Given the description of an element on the screen output the (x, y) to click on. 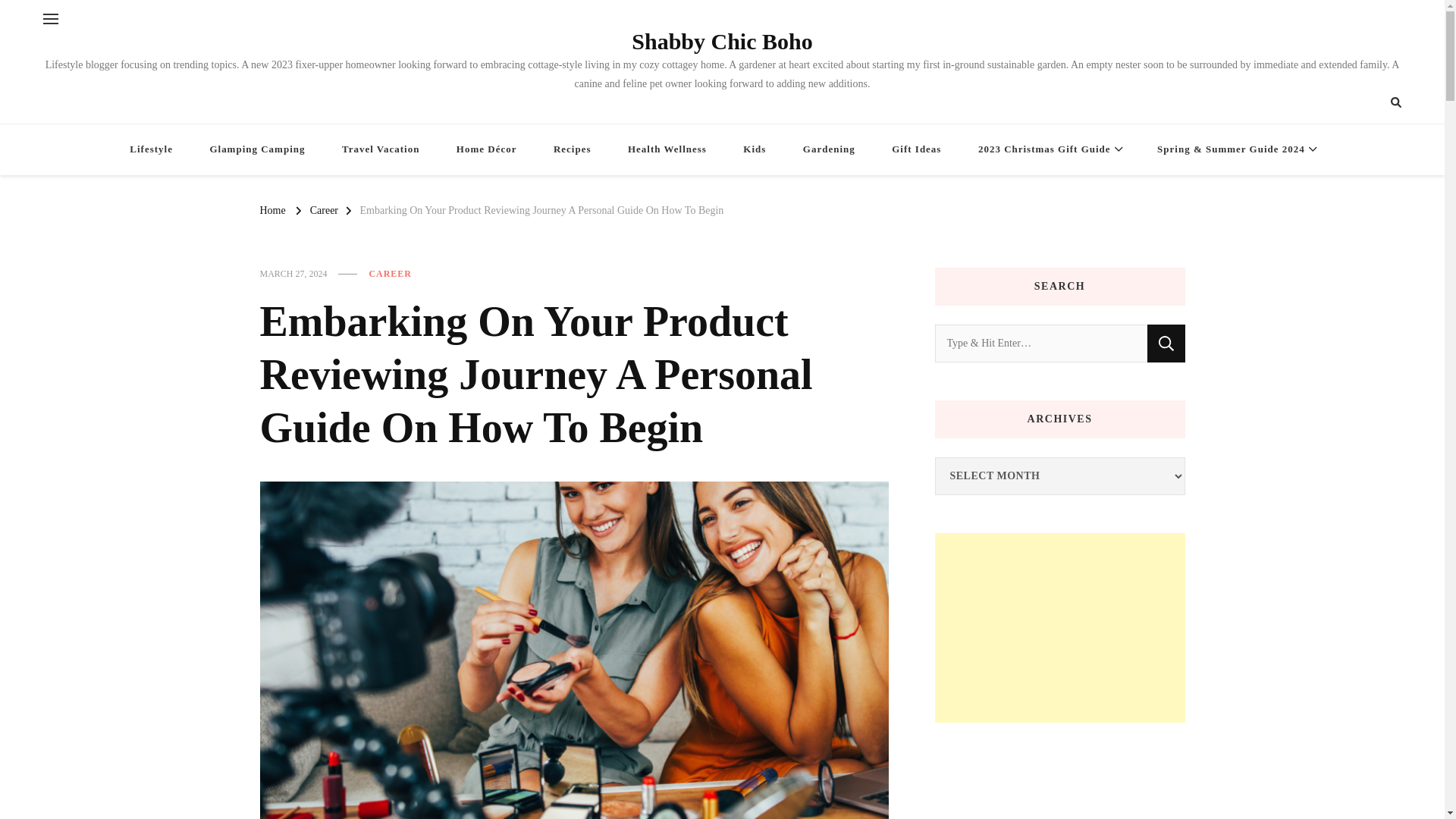
2023 Christmas Gift Guide (1048, 149)
Gift Ideas (916, 149)
Glamping Camping (256, 149)
Search (1166, 343)
Kids (754, 149)
Lifestyle (151, 149)
Travel Vacation (379, 149)
Search (1368, 102)
Glamping Camping (256, 149)
Shabby Chic Boho (721, 41)
Gardening (829, 149)
Recipes (572, 149)
Travel Vacation (379, 149)
2023 Christmas Gift Guide (1048, 149)
Kids (754, 149)
